Given the description of an element on the screen output the (x, y) to click on. 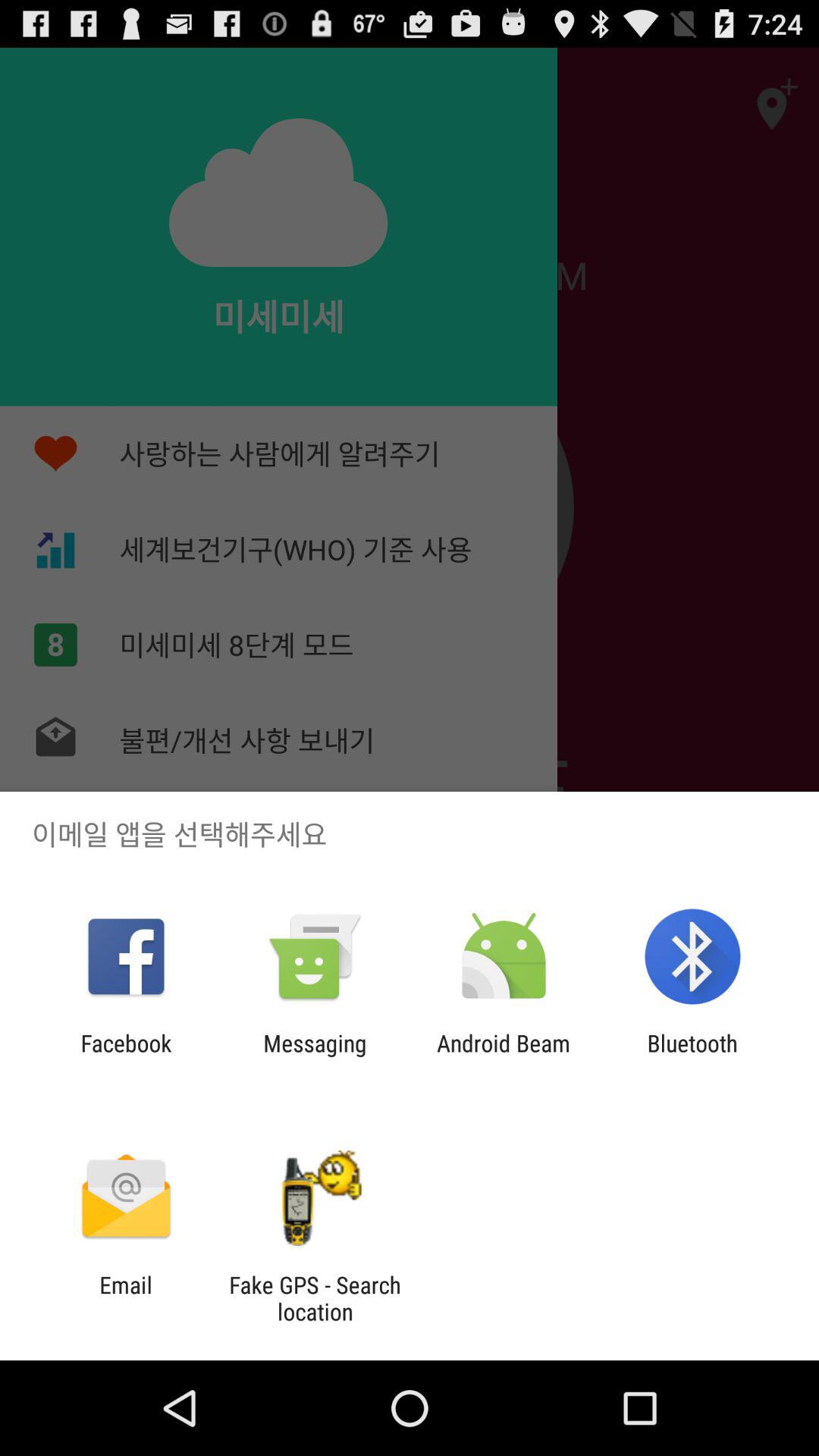
scroll until fake gps search (314, 1298)
